Given the description of an element on the screen output the (x, y) to click on. 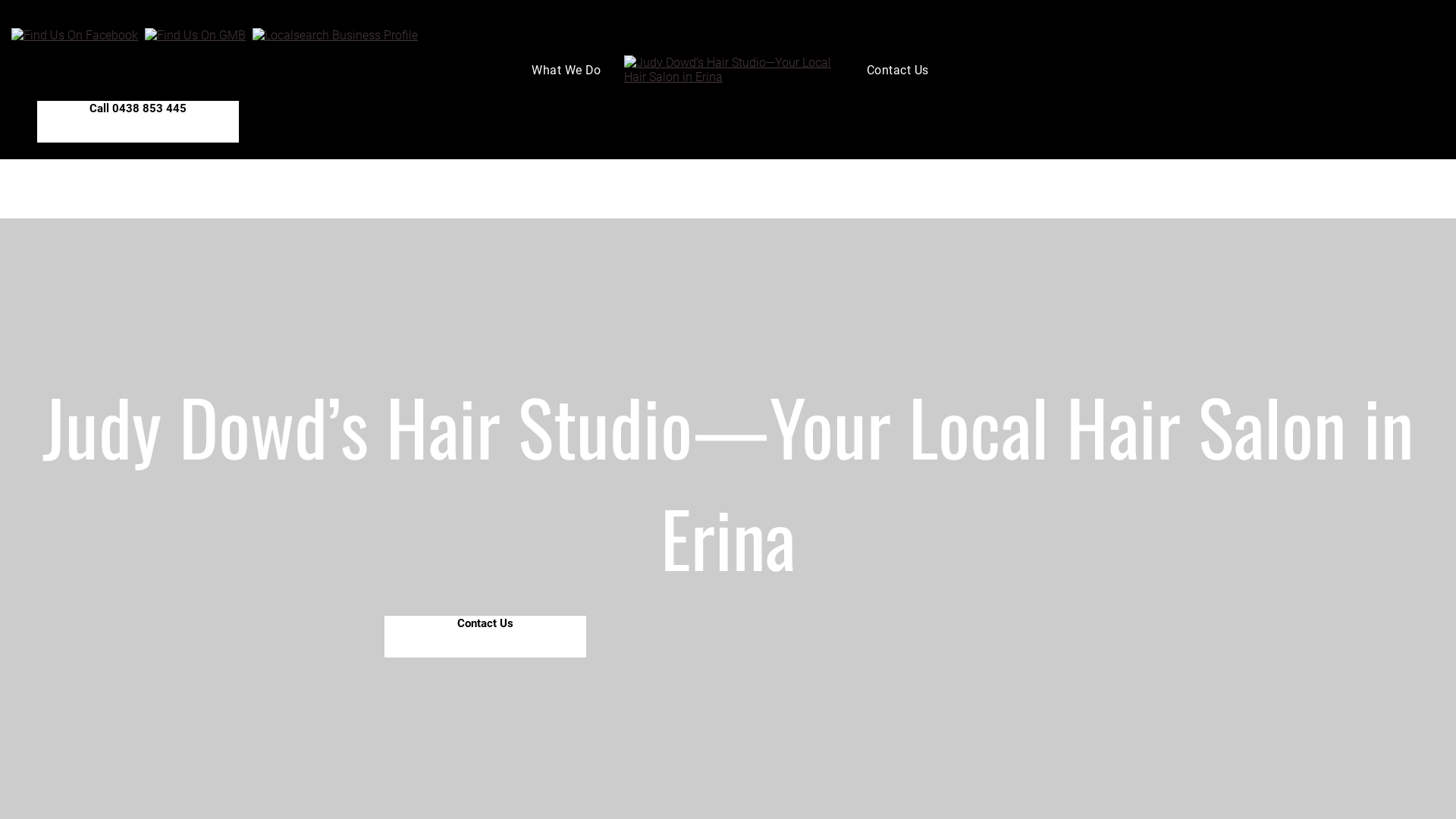
Call 0438 853 445 Element type: text (137, 121)
Contact Us Element type: text (485, 636)
What We Do Element type: text (570, 70)
Find Us On Facebook Element type: hover (74, 35)
Localsearch Business Profile Element type: hover (334, 35)
Contact Us Element type: text (897, 70)
Follow Us On Instagram Element type: hover (194, 35)
